Given the description of an element on the screen output the (x, y) to click on. 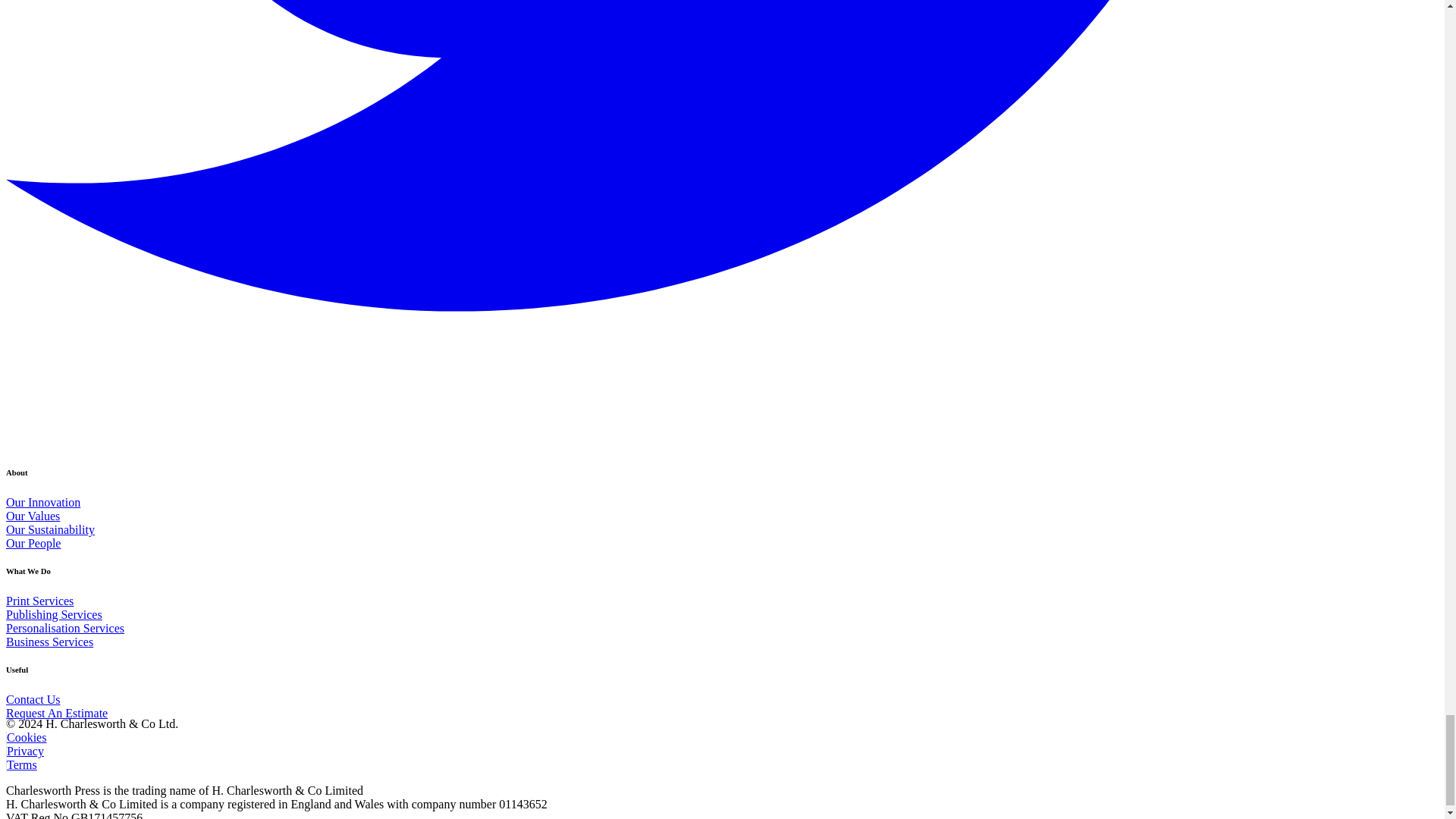
Business Services (49, 641)
Our Sustainability (49, 529)
Our Values (32, 515)
Our Innovation (42, 502)
Privacy (24, 750)
Print Services (39, 600)
Publishing Services (53, 614)
Our People (33, 543)
Personalisation Services (64, 627)
Cookies (25, 737)
